Given the description of an element on the screen output the (x, y) to click on. 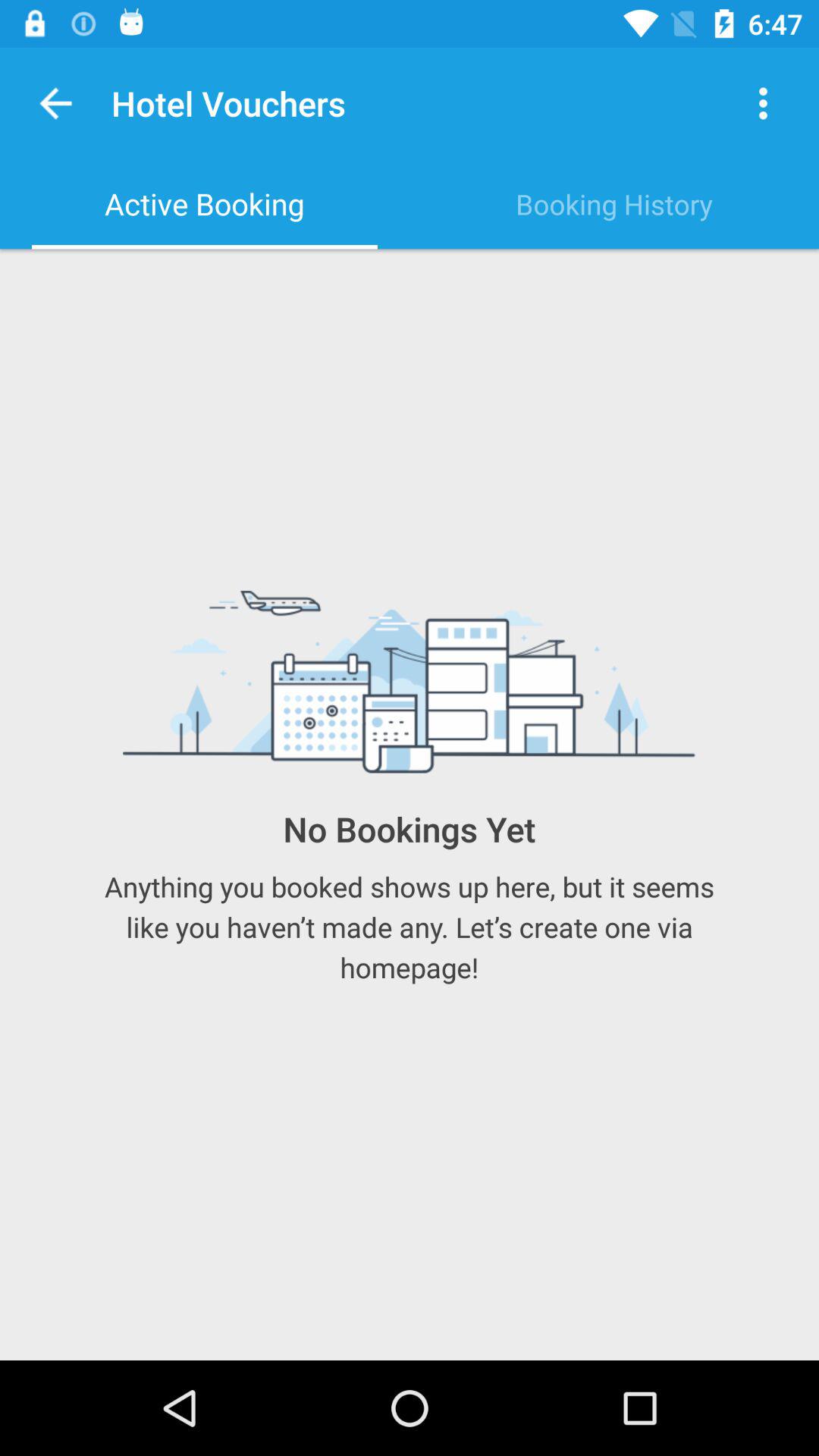
turn off the item to the left of booking history (204, 204)
